Given the description of an element on the screen output the (x, y) to click on. 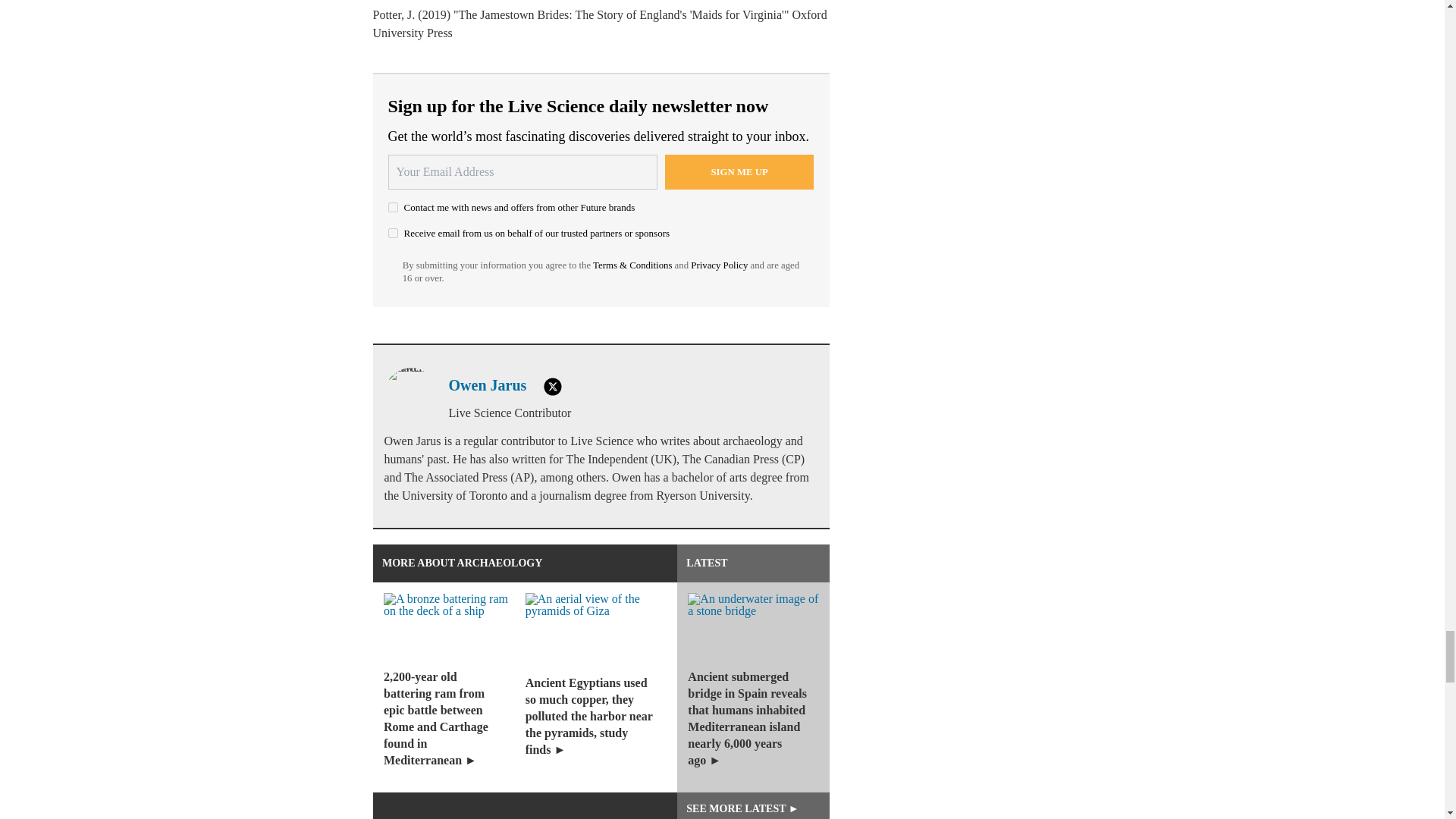
on (392, 207)
on (392, 233)
Sign me up (739, 171)
